Given the description of an element on the screen output the (x, y) to click on. 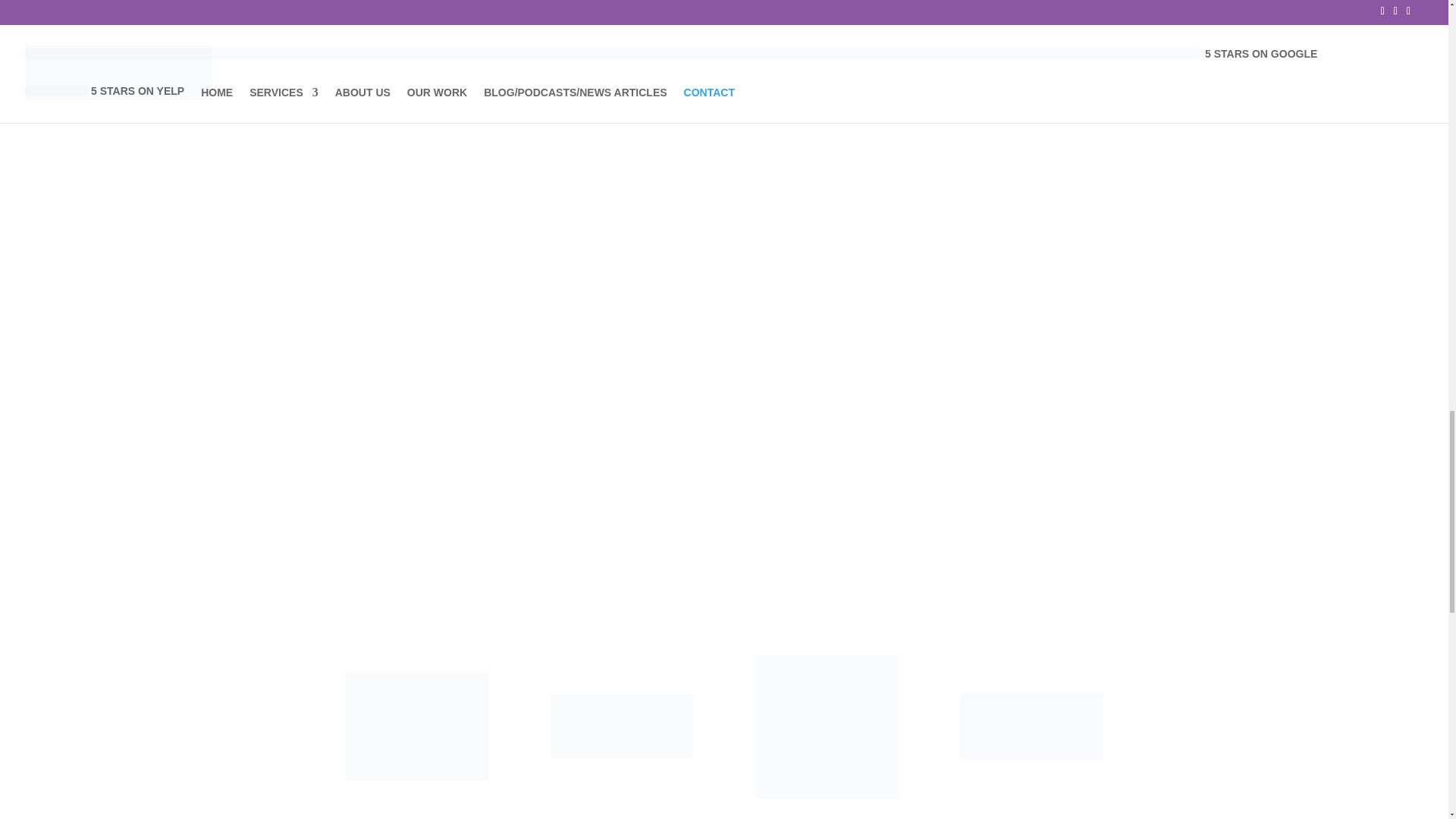
Follow on LinkedIn (723, 105)
Follow on X (693, 105)
Follow on Facebook (662, 105)
Follow on Instagram (754, 105)
Follow on Youtube (784, 105)
